Given the description of an element on the screen output the (x, y) to click on. 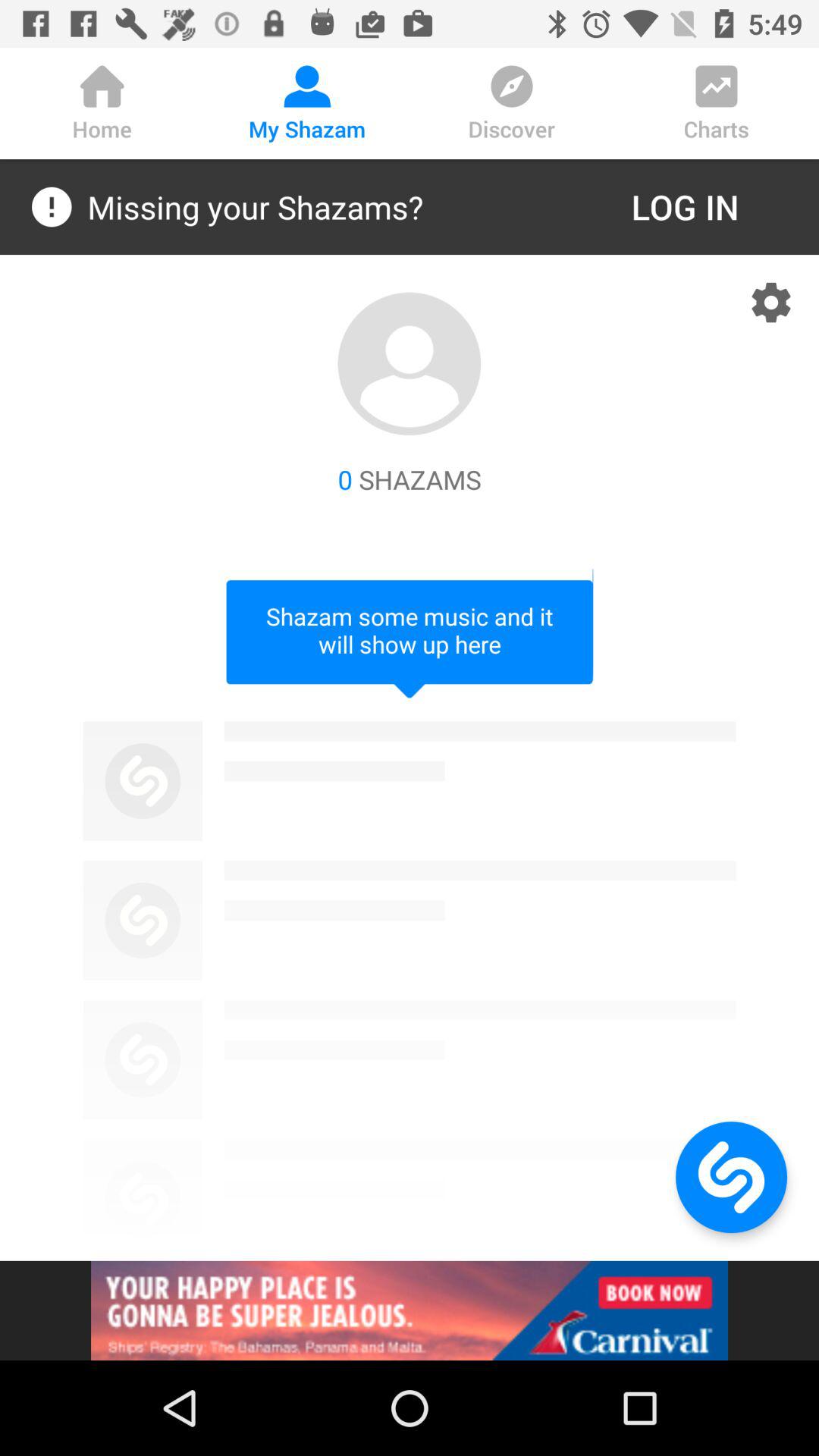
open advertisement (409, 1310)
